Given the description of an element on the screen output the (x, y) to click on. 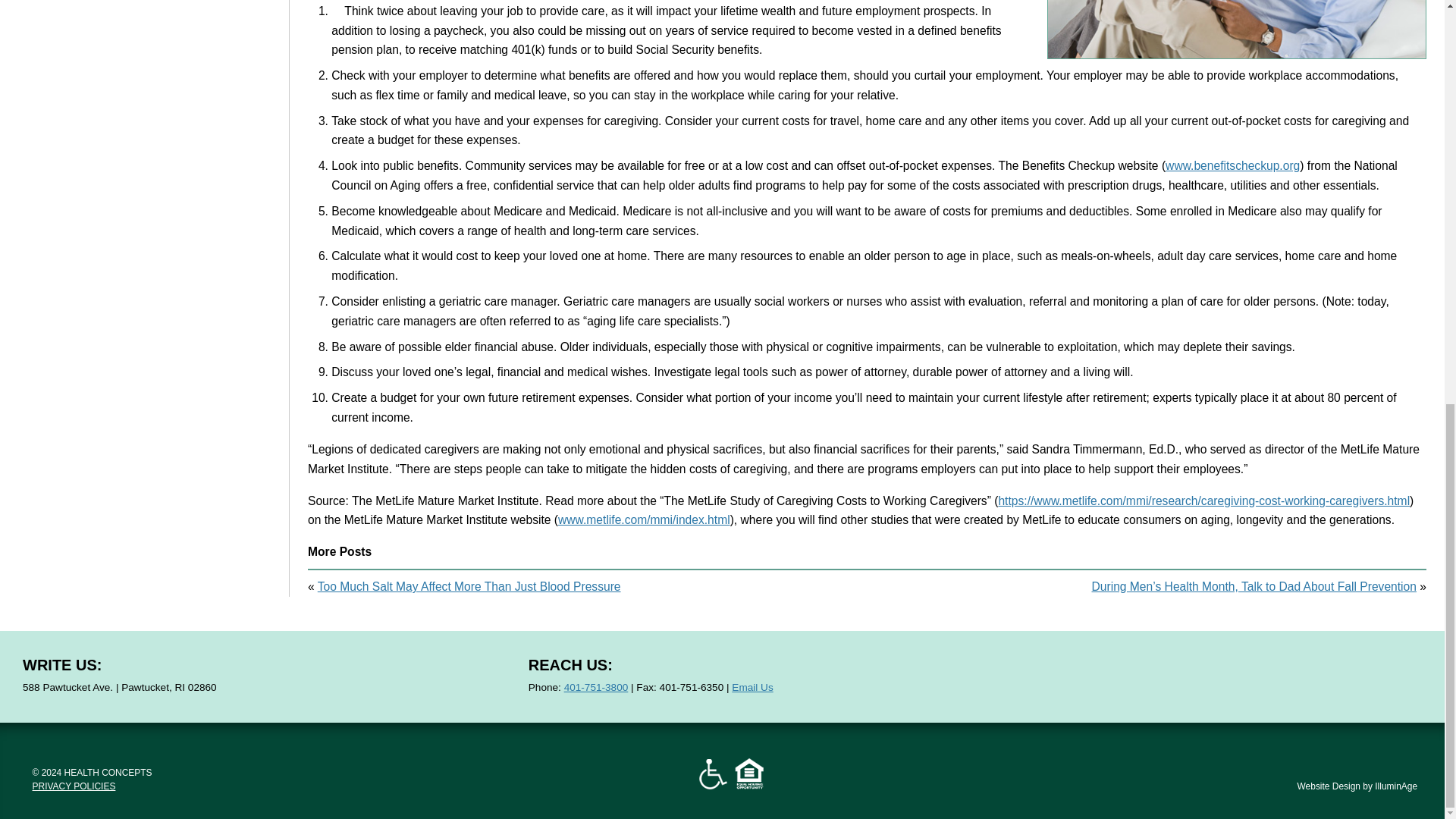
PRIVACY POLICIES (74, 786)
Email Us (752, 686)
Too Much Salt May Affect More Than Just Blood Pressure (469, 585)
Facebook (1152, 676)
www.benefitscheckup.org (1233, 164)
Website Design by IlluminAge (1357, 786)
401-751-3800 (596, 686)
